Given the description of an element on the screen output the (x, y) to click on. 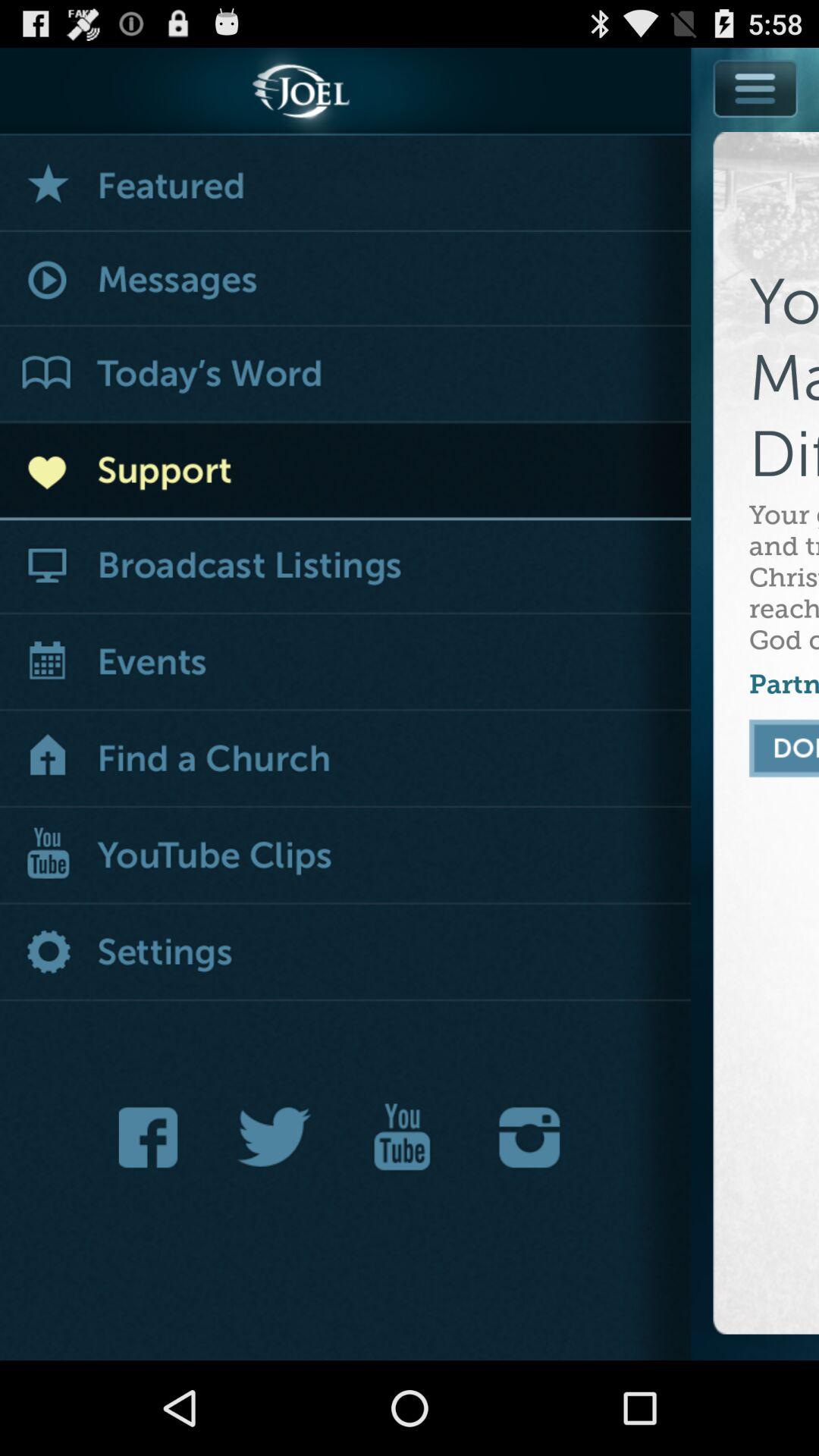
show menu (755, 122)
